Given the description of an element on the screen output the (x, y) to click on. 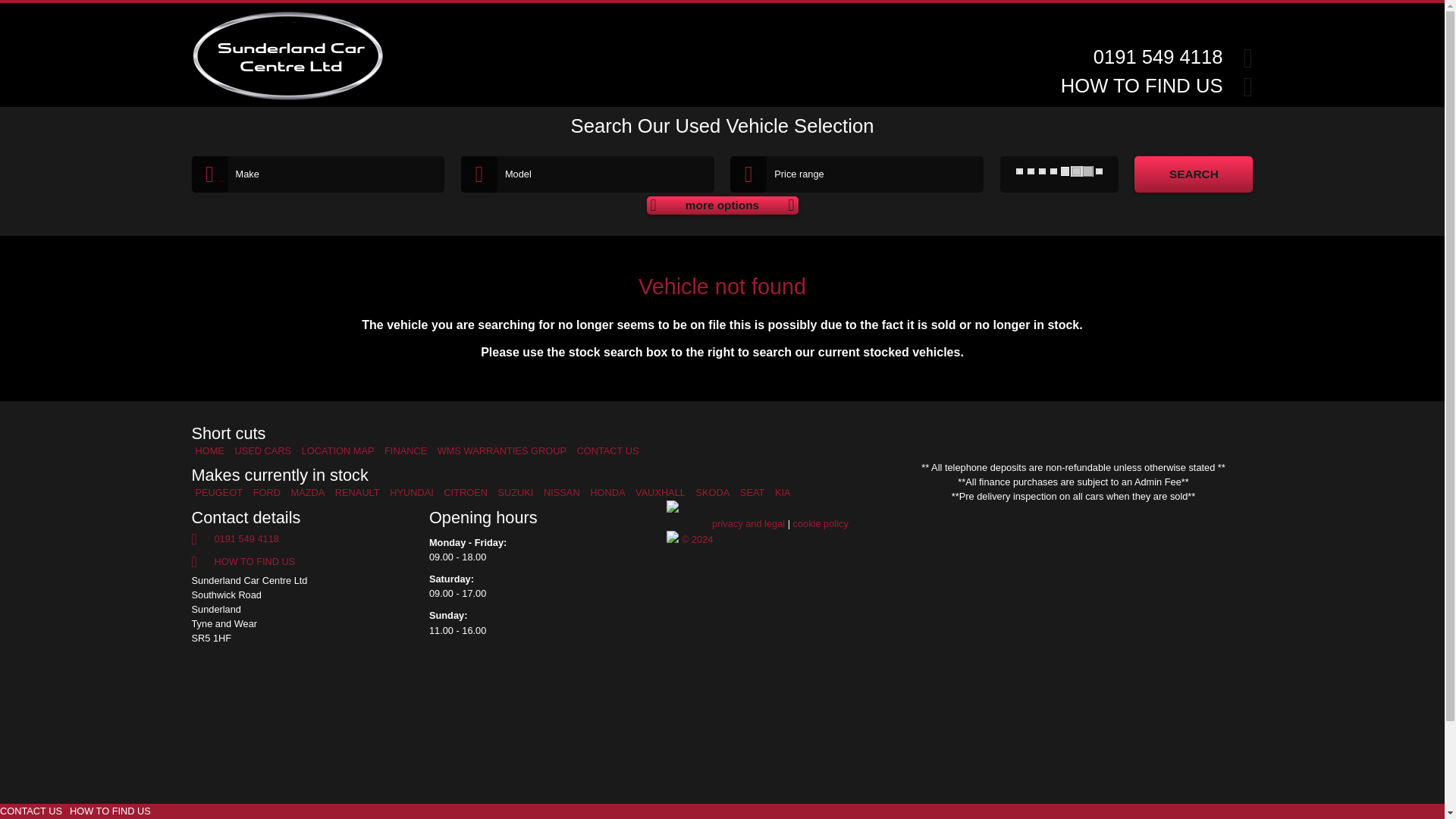
HOW TO FIND US (1142, 85)
HOW TO FIND US (110, 811)
our location (110, 811)
CONTACT US (31, 811)
our contact details (31, 811)
HOME (208, 450)
USED CARS (262, 450)
0191 549 4118 (1158, 56)
